Given the description of an element on the screen output the (x, y) to click on. 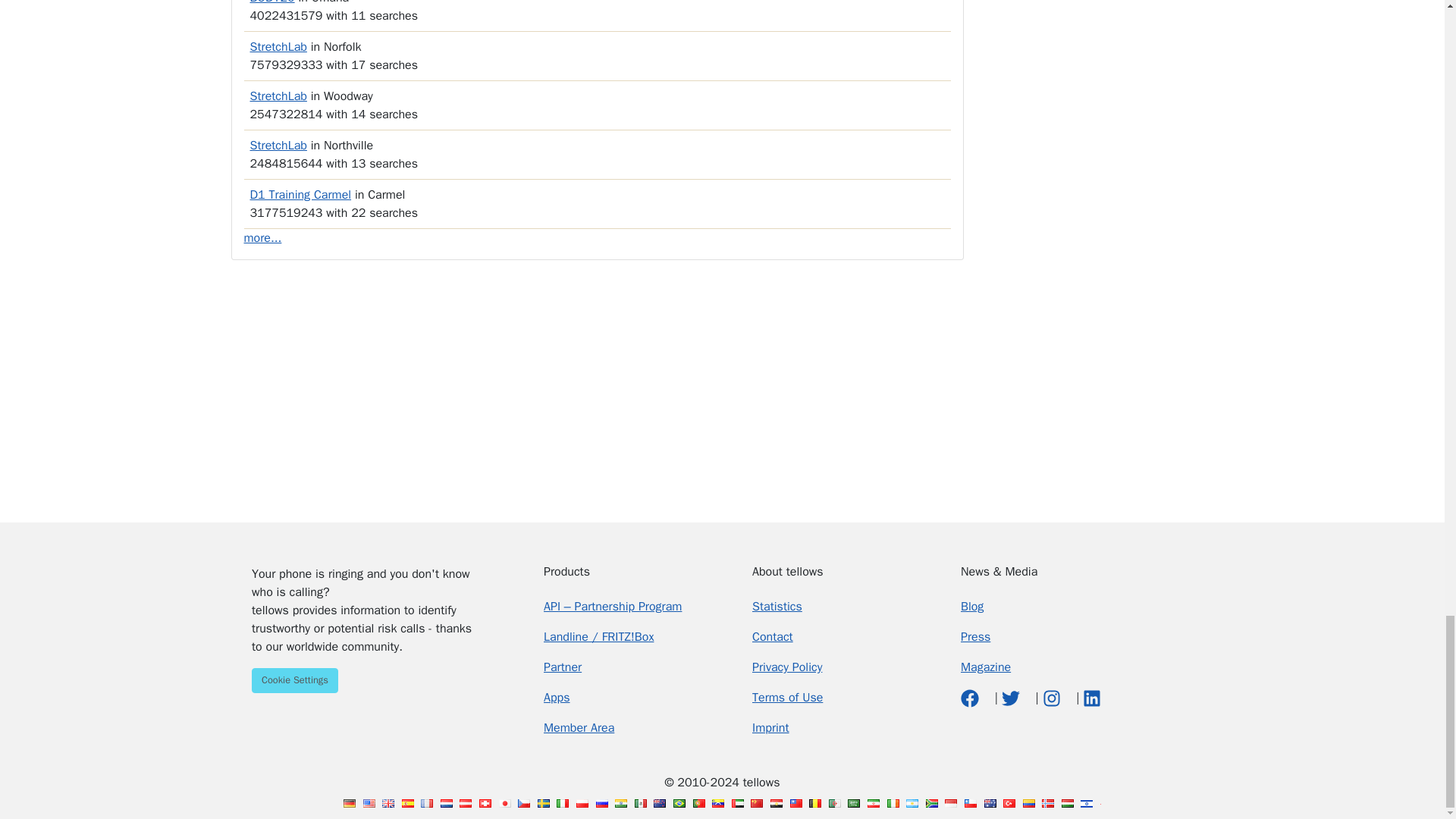
tellows Netherlands (446, 803)
tellows France (426, 803)
Facebook (971, 697)
Blog (972, 606)
twitter (1012, 697)
LinkedIn (1091, 697)
tellows USA (368, 803)
Instagram (1053, 697)
tellows Germany (349, 803)
tellows Great Britain (387, 803)
Magazin (985, 667)
Presse (975, 636)
tellows Austria (465, 803)
tellows Spain (407, 803)
